Given the description of an element on the screen output the (x, y) to click on. 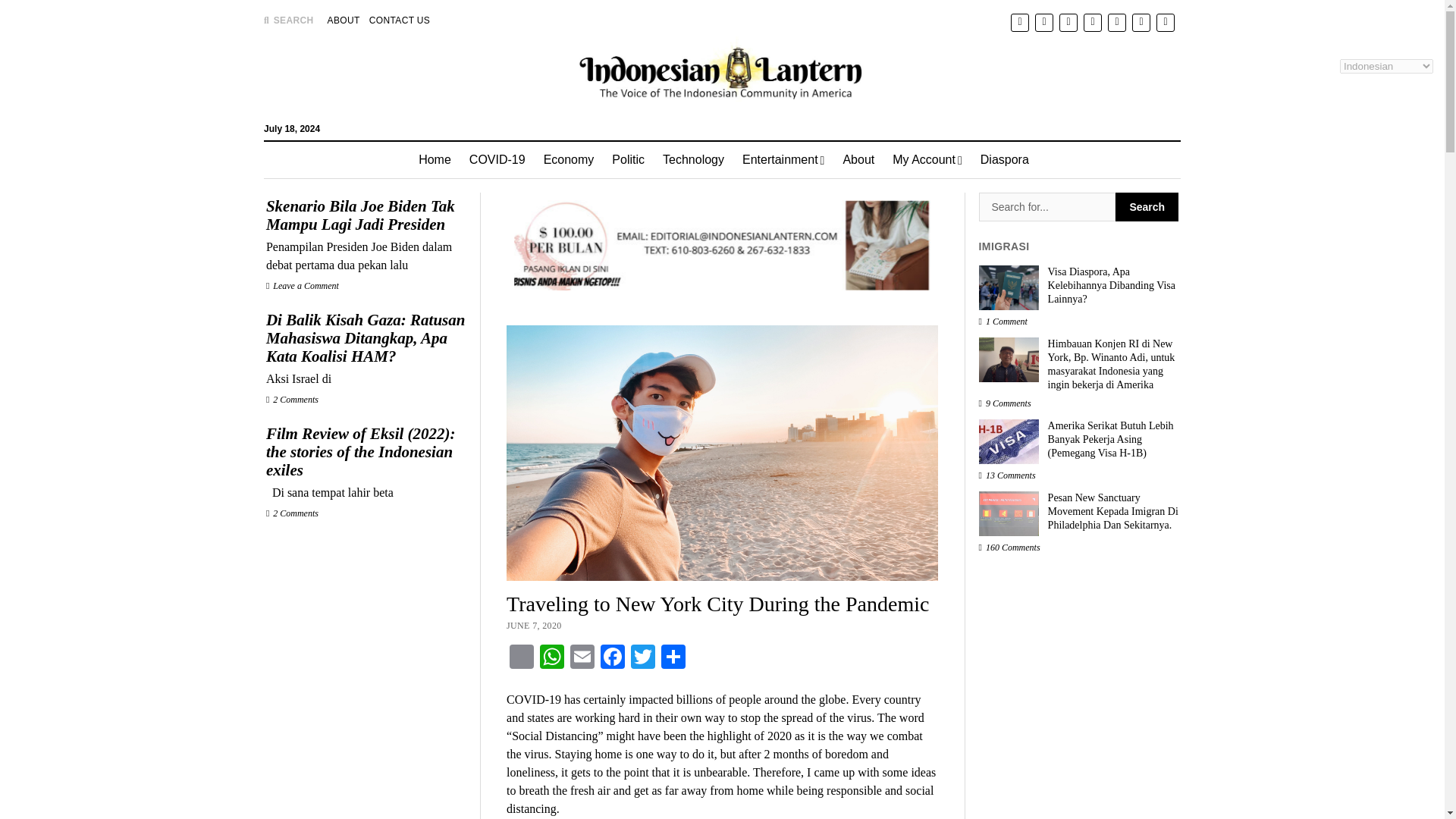
2 Comments (292, 512)
Facebook (611, 658)
email (1165, 21)
ABOUT (343, 20)
Leave a Comment (302, 285)
Technology (693, 159)
Economy (569, 159)
Email (581, 658)
Copy Link (521, 658)
My Account (927, 159)
About (857, 159)
COVID-19 (497, 159)
